Given the description of an element on the screen output the (x, y) to click on. 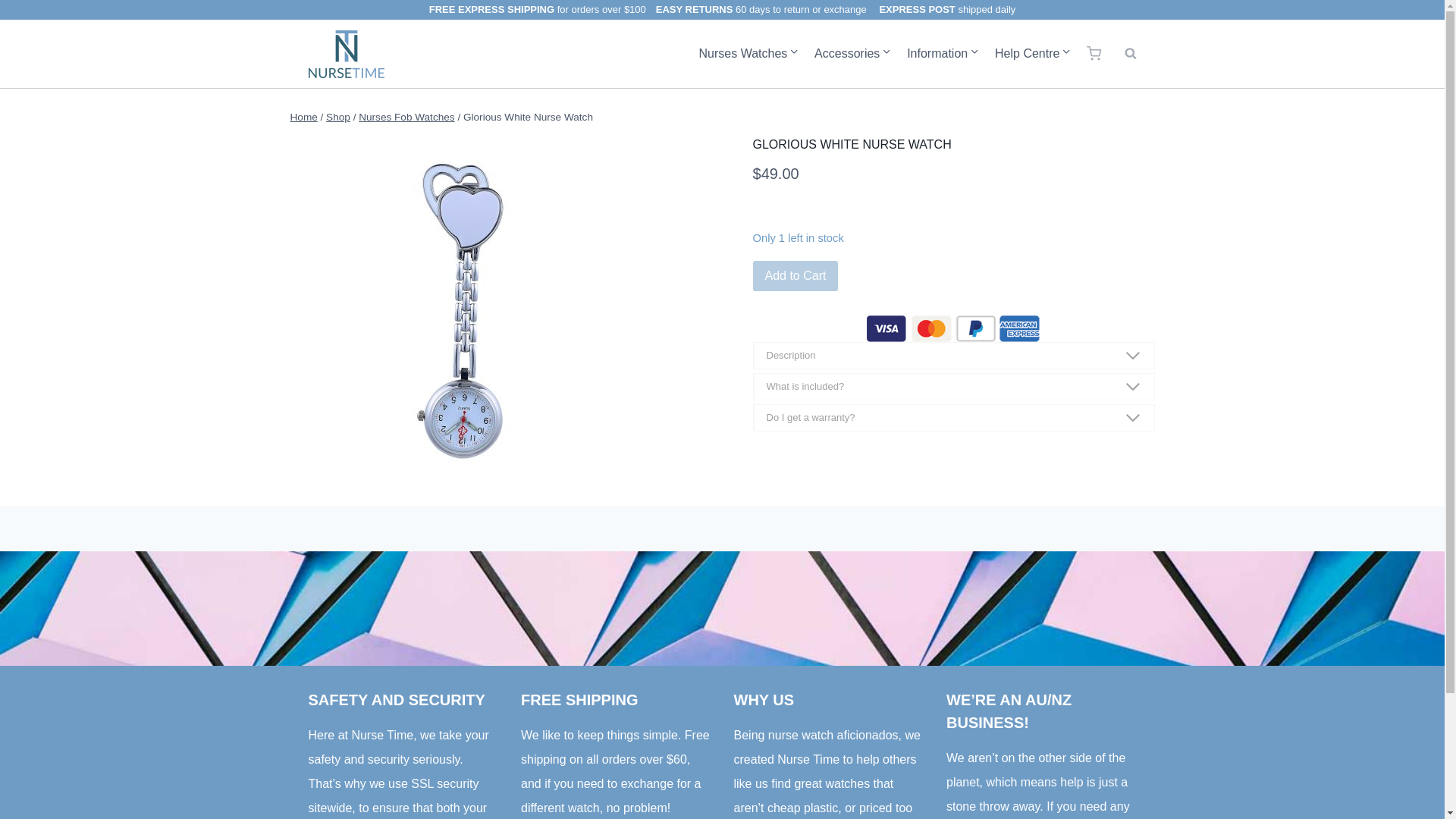
Nurses Fob Watches (406, 116)
What is included? (953, 386)
Home (303, 116)
Help Centre (1032, 53)
Accessories (852, 53)
NW-003-02-GLORIOUS-WHITE-NURSE WATCH (465, 311)
Shop (338, 116)
Do I get a warranty? (953, 417)
Add to Cart (795, 276)
Description (953, 355)
